Given the description of an element on the screen output the (x, y) to click on. 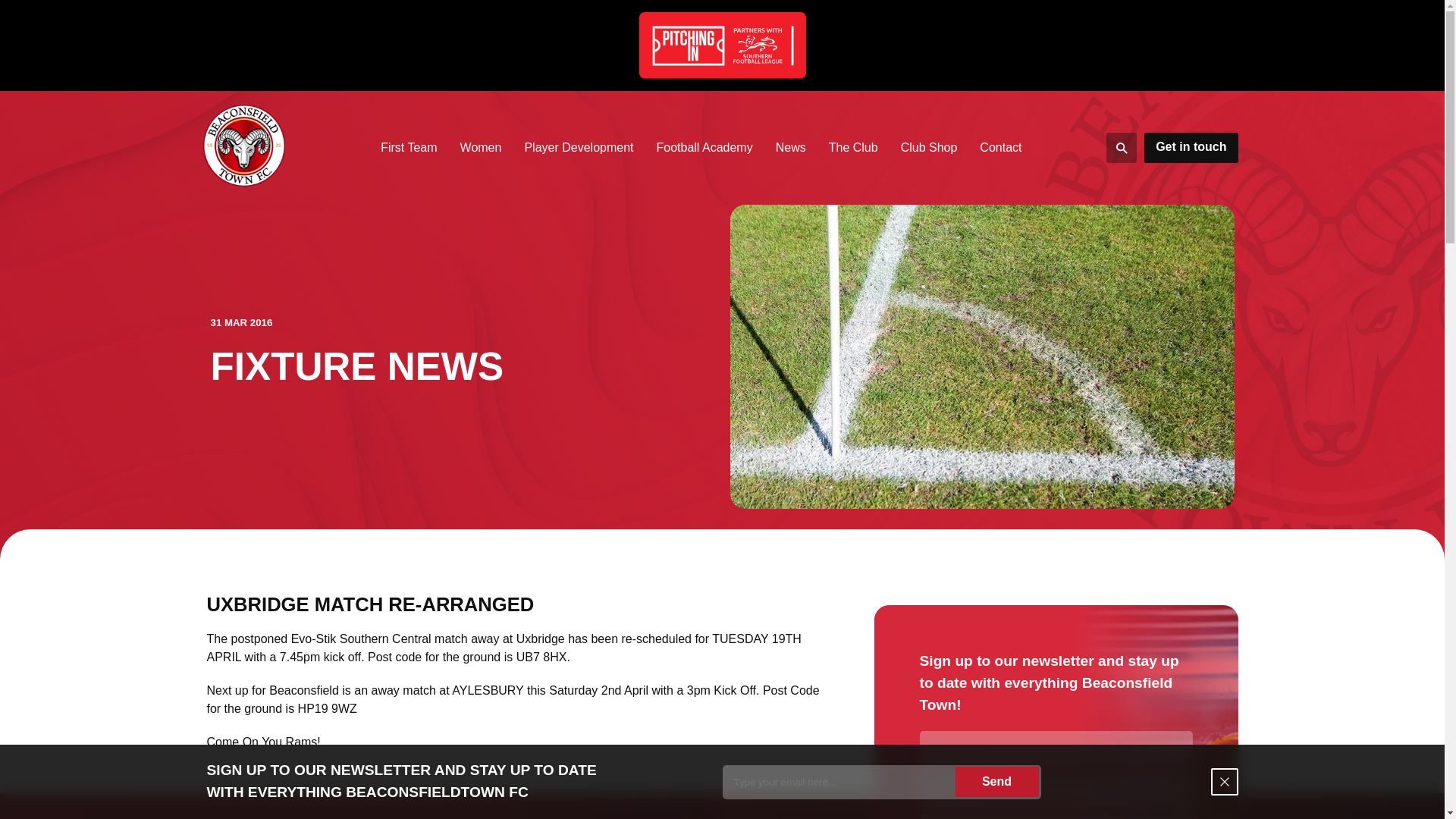
Football Academy (703, 147)
Player Development (578, 147)
Type your email here... (881, 781)
First Team (408, 147)
Women (480, 147)
